Given the description of an element on the screen output the (x, y) to click on. 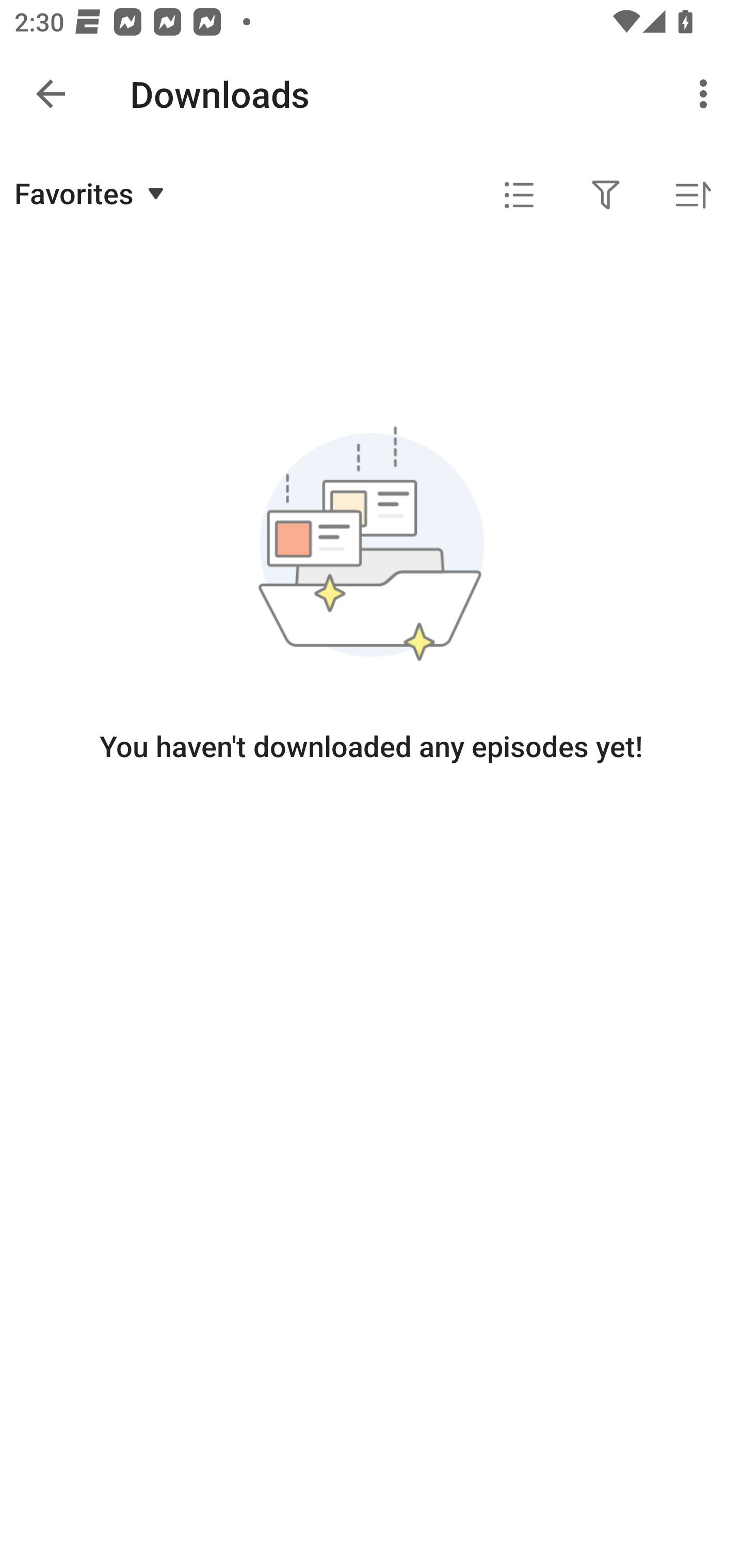
Navigate up (50, 93)
More options (706, 93)
Favorites (92, 192)
 (518, 195)
 (605, 195)
 Sorted by oldest first (692, 195)
